Given the description of an element on the screen output the (x, y) to click on. 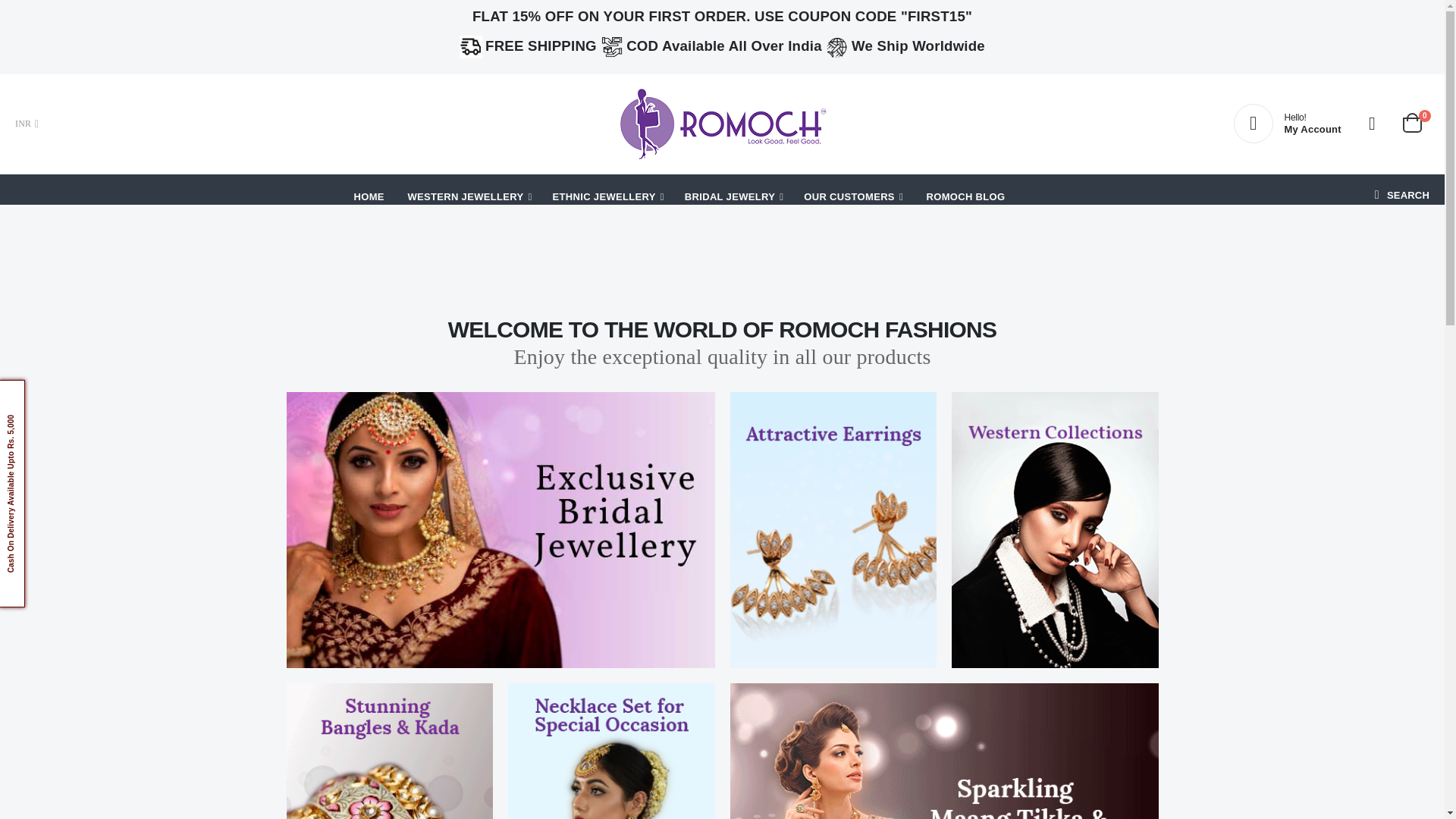
WESTERN JEWELLERY (468, 197)
Western jewellery (1286, 122)
ETHNIC JEWELLERY (468, 197)
SEARCH (607, 197)
HOME (1398, 194)
My Account (369, 197)
Ethnic Jewellery (1286, 122)
My Wish List (607, 197)
